Given the description of an element on the screen output the (x, y) to click on. 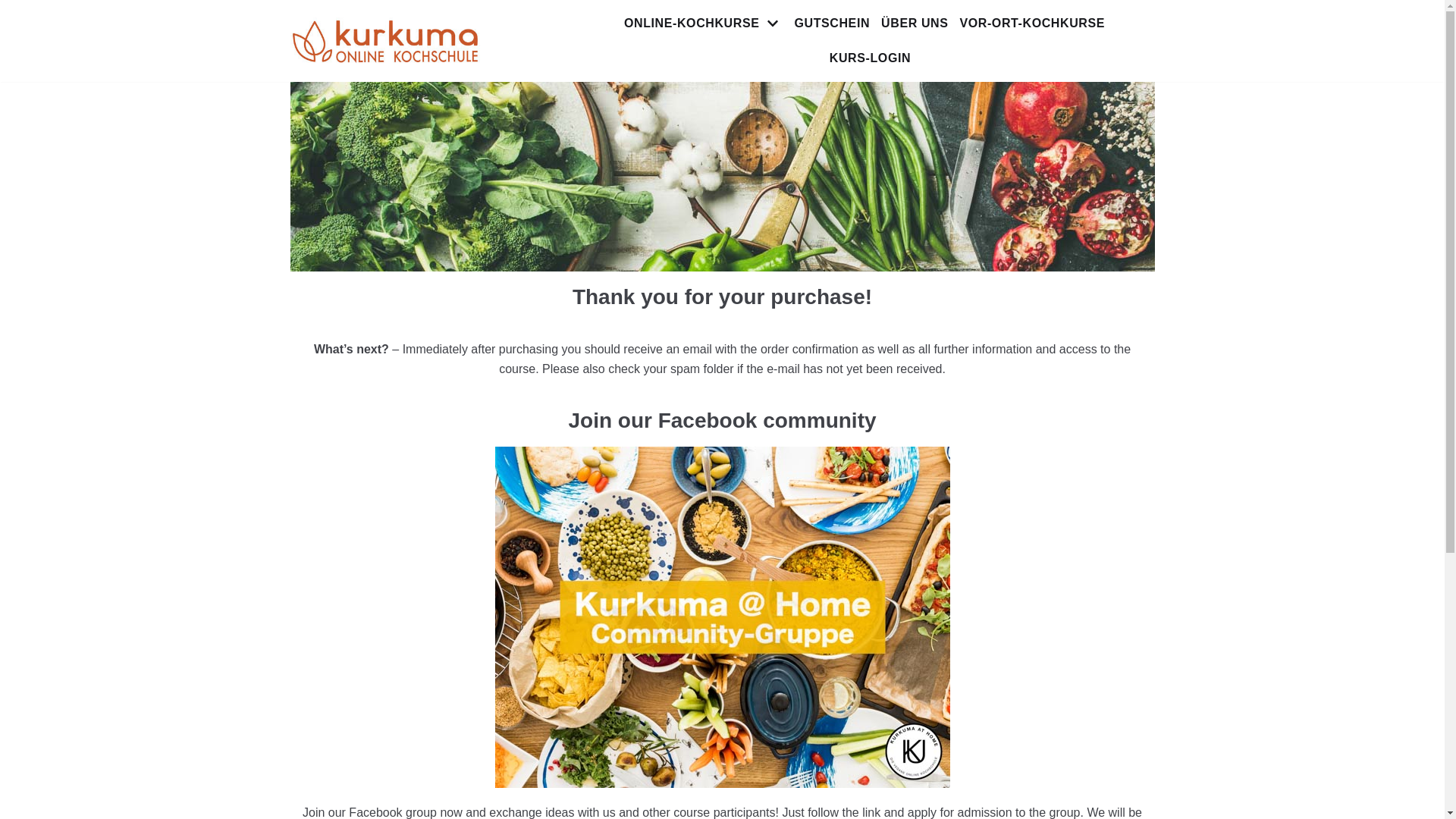
Zum Inhalt (15, 7)
GUTSCHEIN (831, 23)
KURS-LOGIN (870, 57)
ONLINE-KOCHKURSE (703, 23)
VOR-ORT-KOCHKURSE (1032, 23)
